Given the description of an element on the screen output the (x, y) to click on. 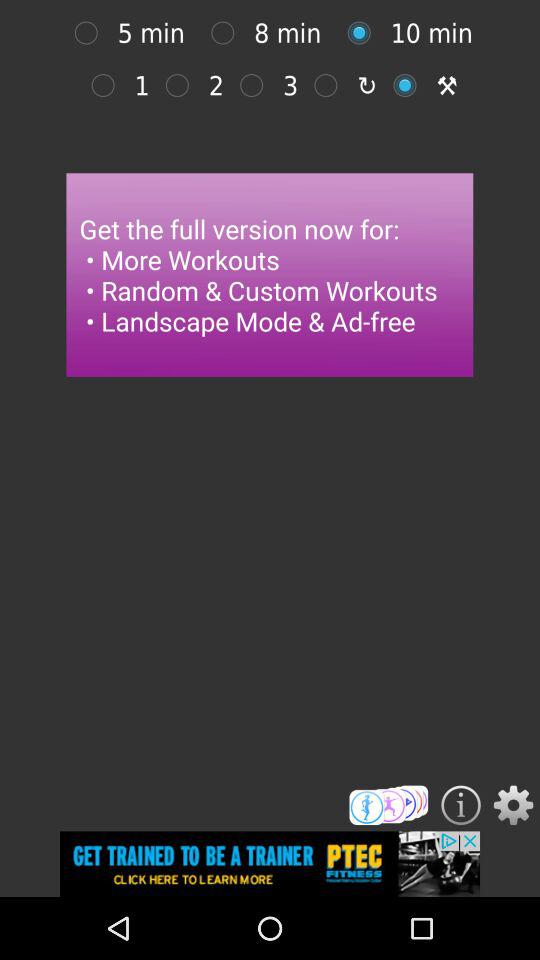
select 3 (256, 85)
